Given the description of an element on the screen output the (x, y) to click on. 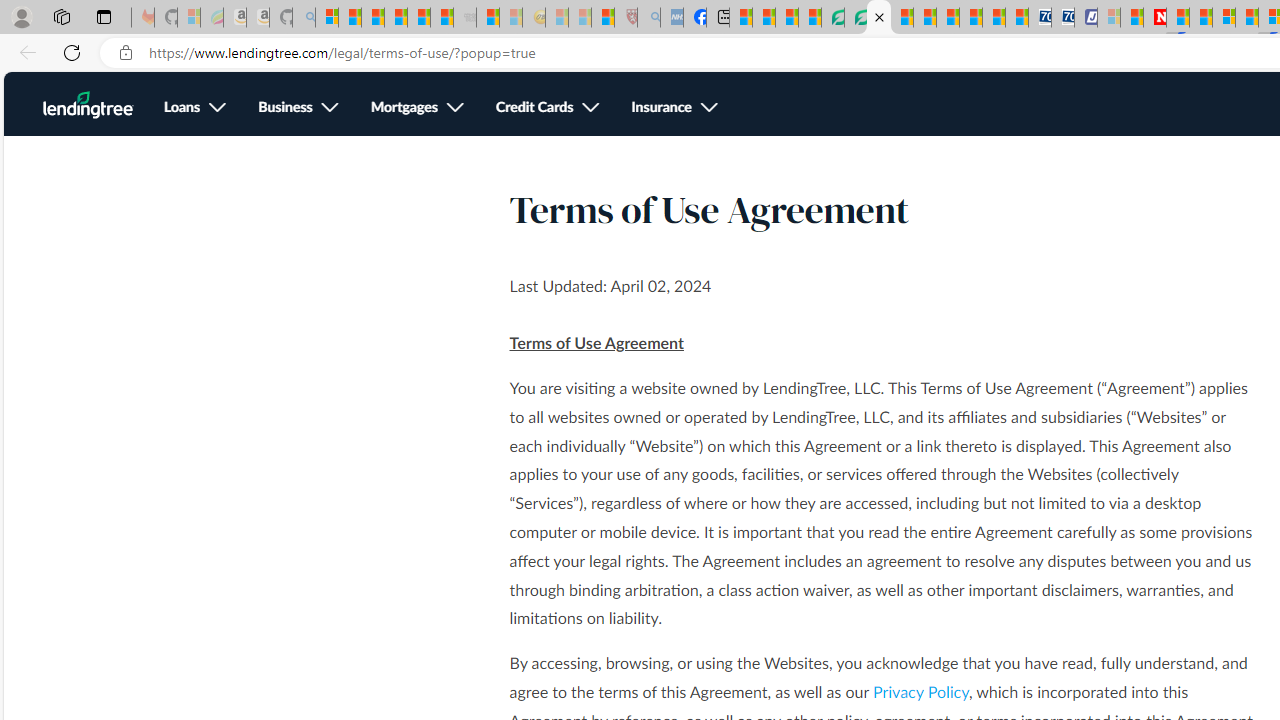
Local - MSN (602, 17)
Business, see more (298, 107)
LendingTree Homepage Logo (88, 105)
Credit Cards, see more (548, 107)
LendingTree Homepage Logo (88, 105)
